Given the description of an element on the screen output the (x, y) to click on. 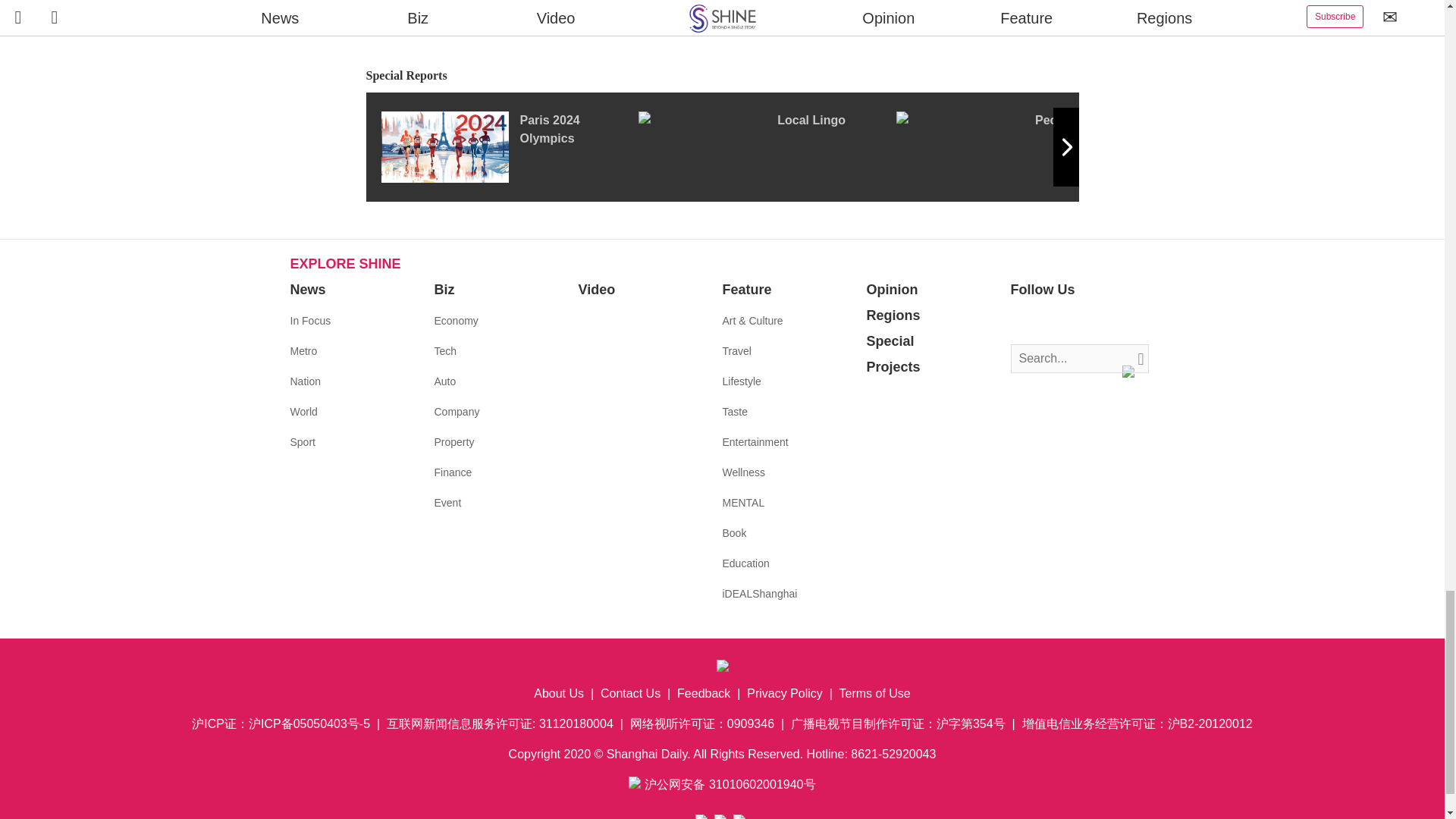
Metro (303, 350)
Paris 2024 Olympics (508, 146)
Follow us on Youtube (1090, 321)
People (1024, 146)
News (306, 289)
Follow us on Facebook (1021, 321)
Special Reports (721, 76)
Local Lingo (767, 146)
Follow us on Twitter (1044, 321)
In Focus (309, 320)
Nation (304, 381)
Follow us on Instagram (1067, 321)
Follow us on Wechat (1112, 321)
